Given the description of an element on the screen output the (x, y) to click on. 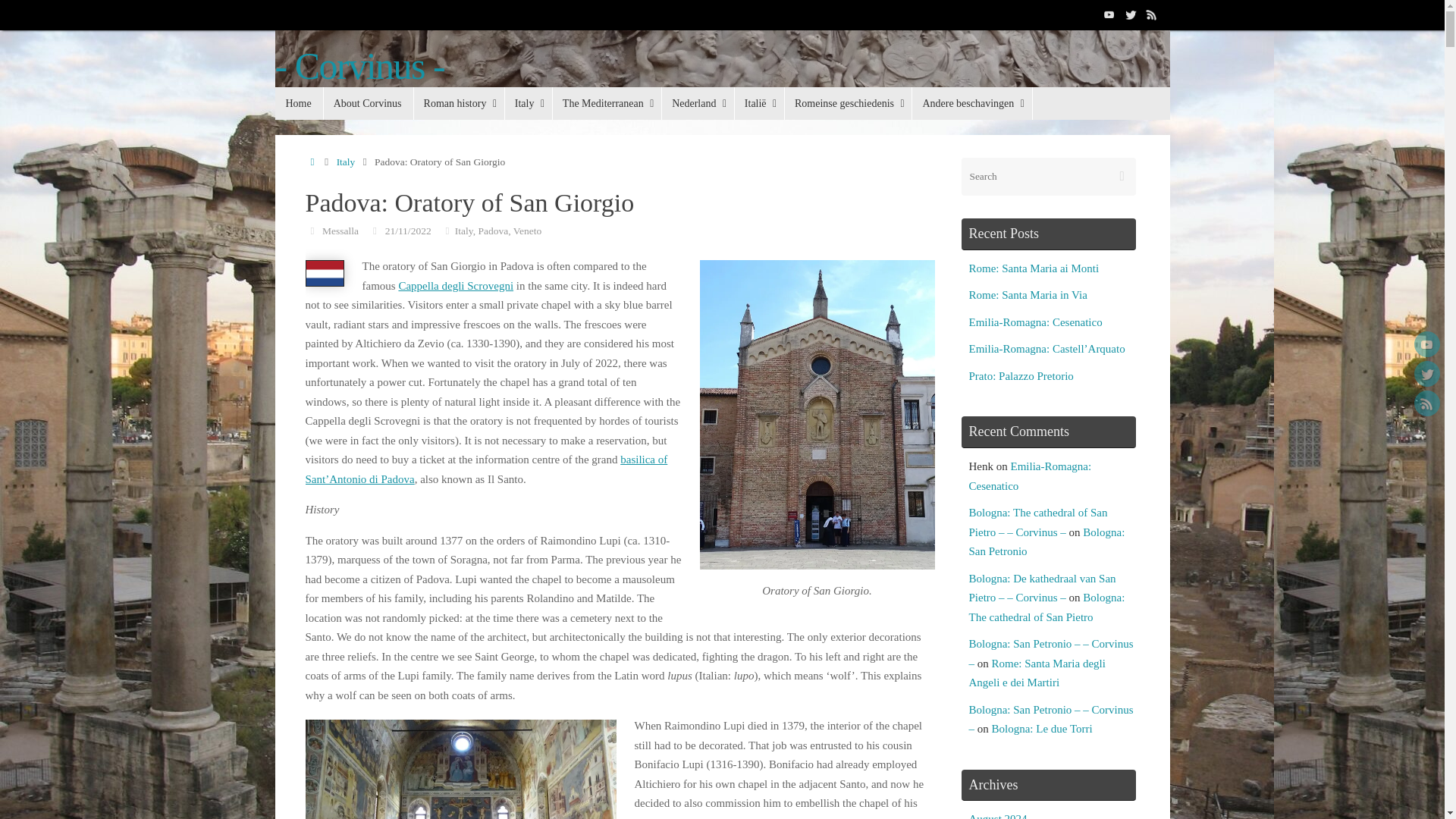
Twitter (1129, 14)
- Corvinus - (359, 65)
YouTube (1426, 344)
Roman history (458, 102)
Italy (527, 102)
Twitter (1426, 373)
RSS (1426, 403)
RSS (1150, 14)
YouTube (1108, 14)
- Corvinus - (722, 83)
